Given the description of an element on the screen output the (x, y) to click on. 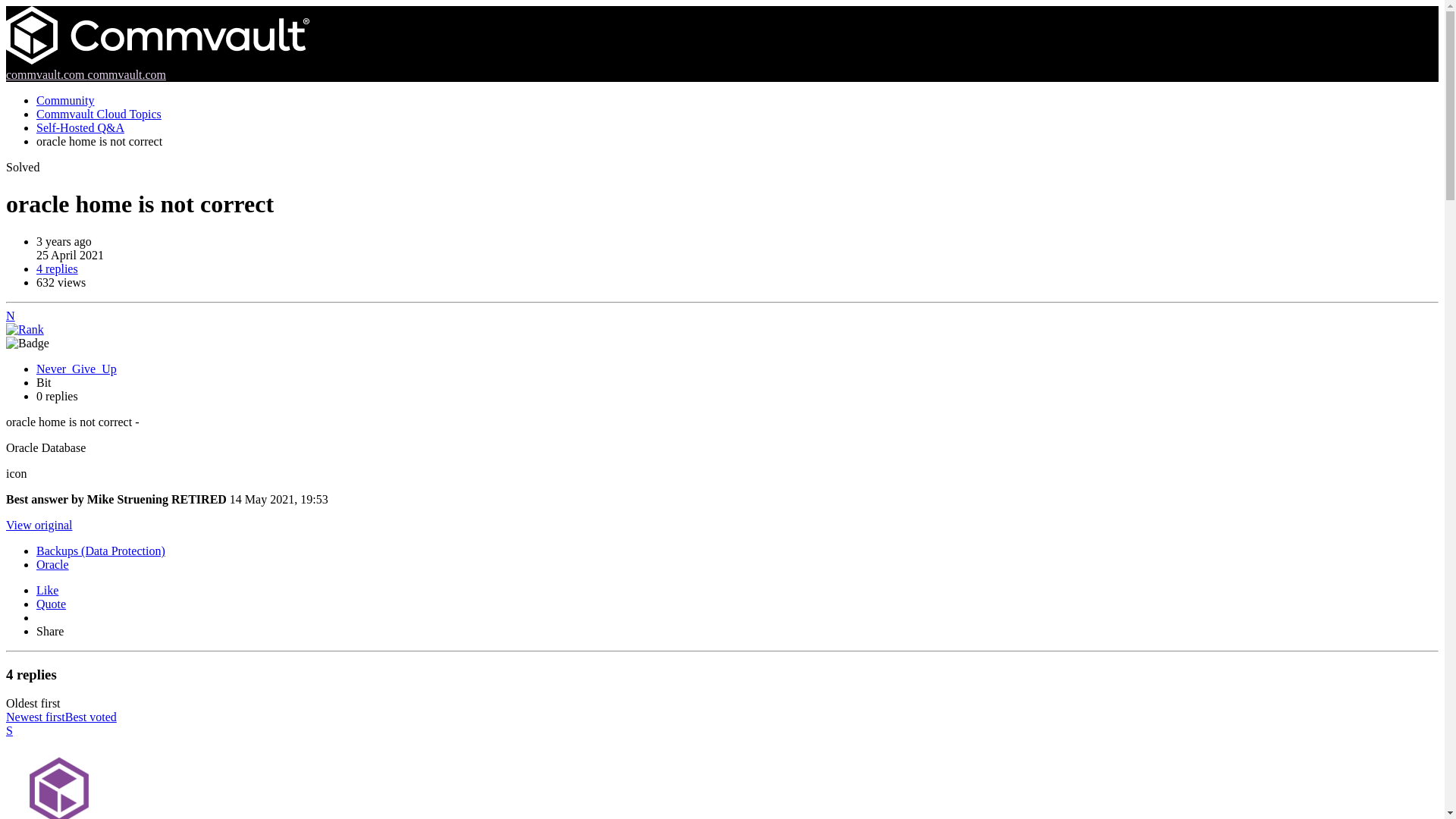
Topic Starter 1 (27, 343)
commvault.com (127, 74)
Community (65, 100)
Best voted (90, 716)
Vaulter (58, 778)
Newest first (35, 716)
View original (38, 524)
Bit (24, 329)
Like (47, 590)
commvault.com (46, 74)
Quote (50, 603)
Commvault Cloud Topics (98, 113)
Oracle (52, 563)
4 replies (57, 268)
